Given the description of an element on the screen output the (x, y) to click on. 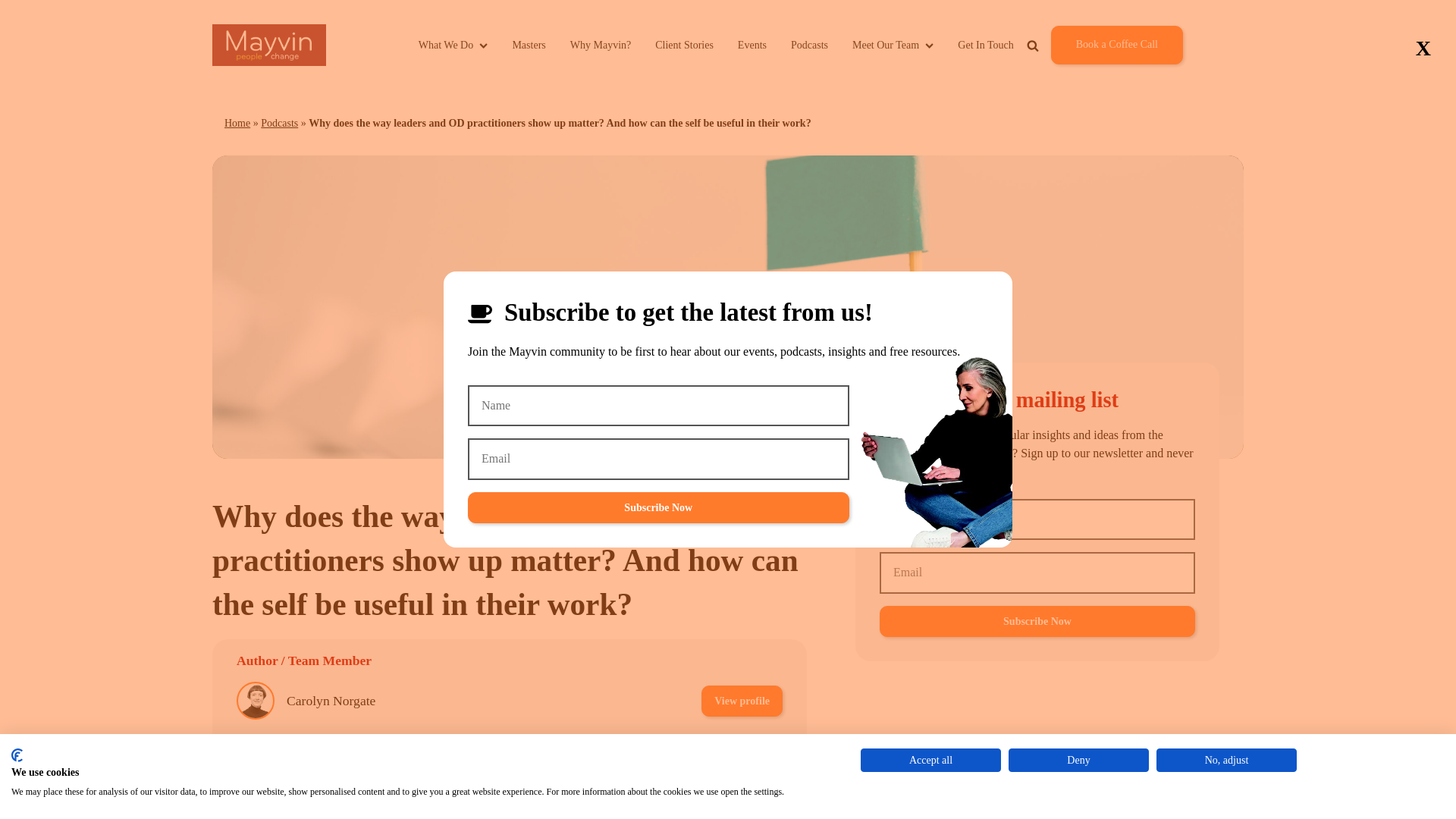
Martin Saville (324, 753)
X (1423, 48)
Carolyn Norgate (330, 700)
Search (1078, 80)
Get In Touch (985, 45)
Subscribe Now (1037, 621)
Organisation Development (513, 805)
Book a Coffee Call (1116, 44)
Podcasts (809, 45)
What We Do (453, 45)
View profile (742, 700)
View profile (742, 753)
Why Mayvin? (600, 45)
Client Stories (684, 45)
Podcasts (279, 122)
